Given the description of an element on the screen output the (x, y) to click on. 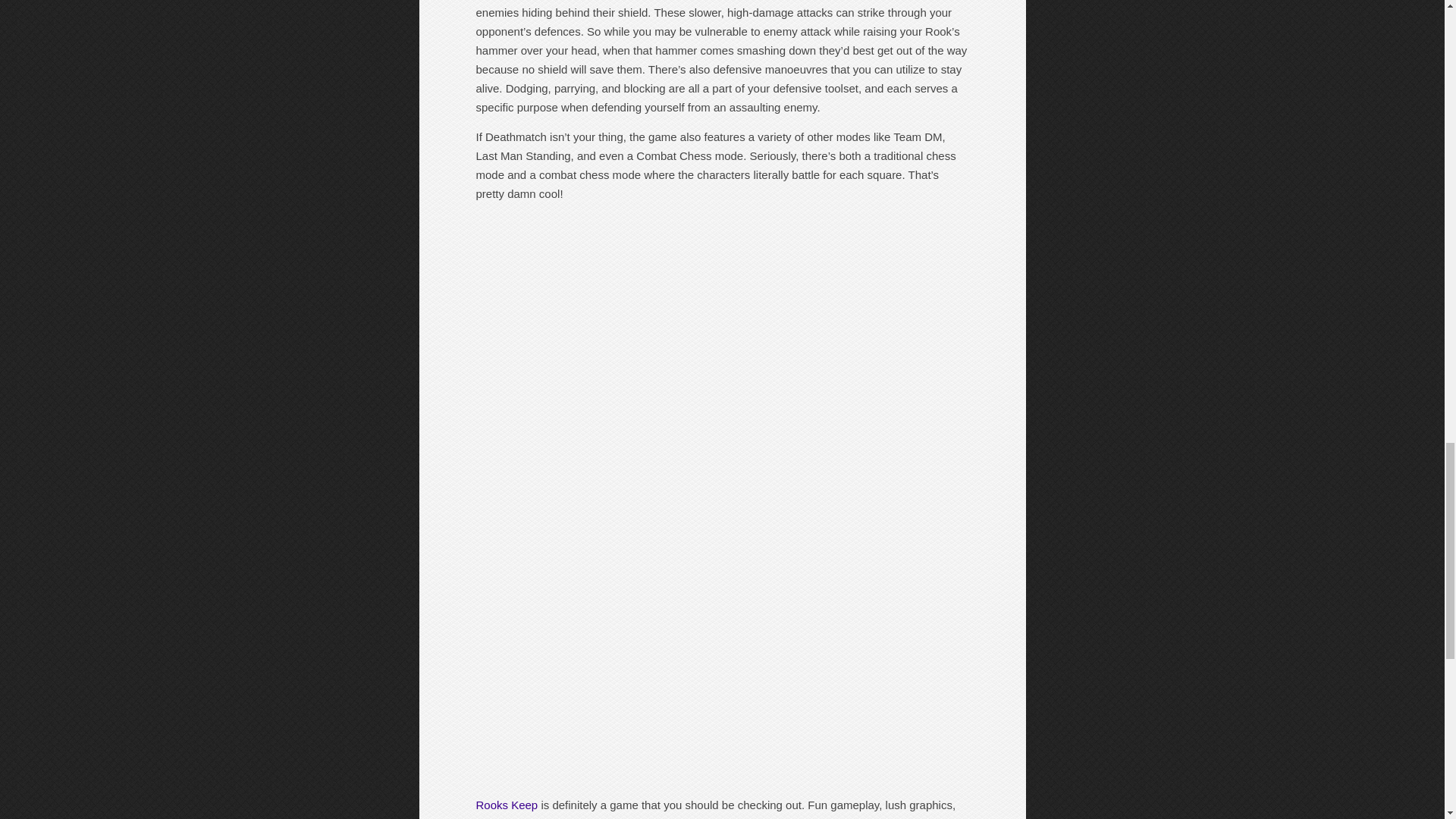
Rooks Keep on Steam Greenlight (507, 804)
